Given the description of an element on the screen output the (x, y) to click on. 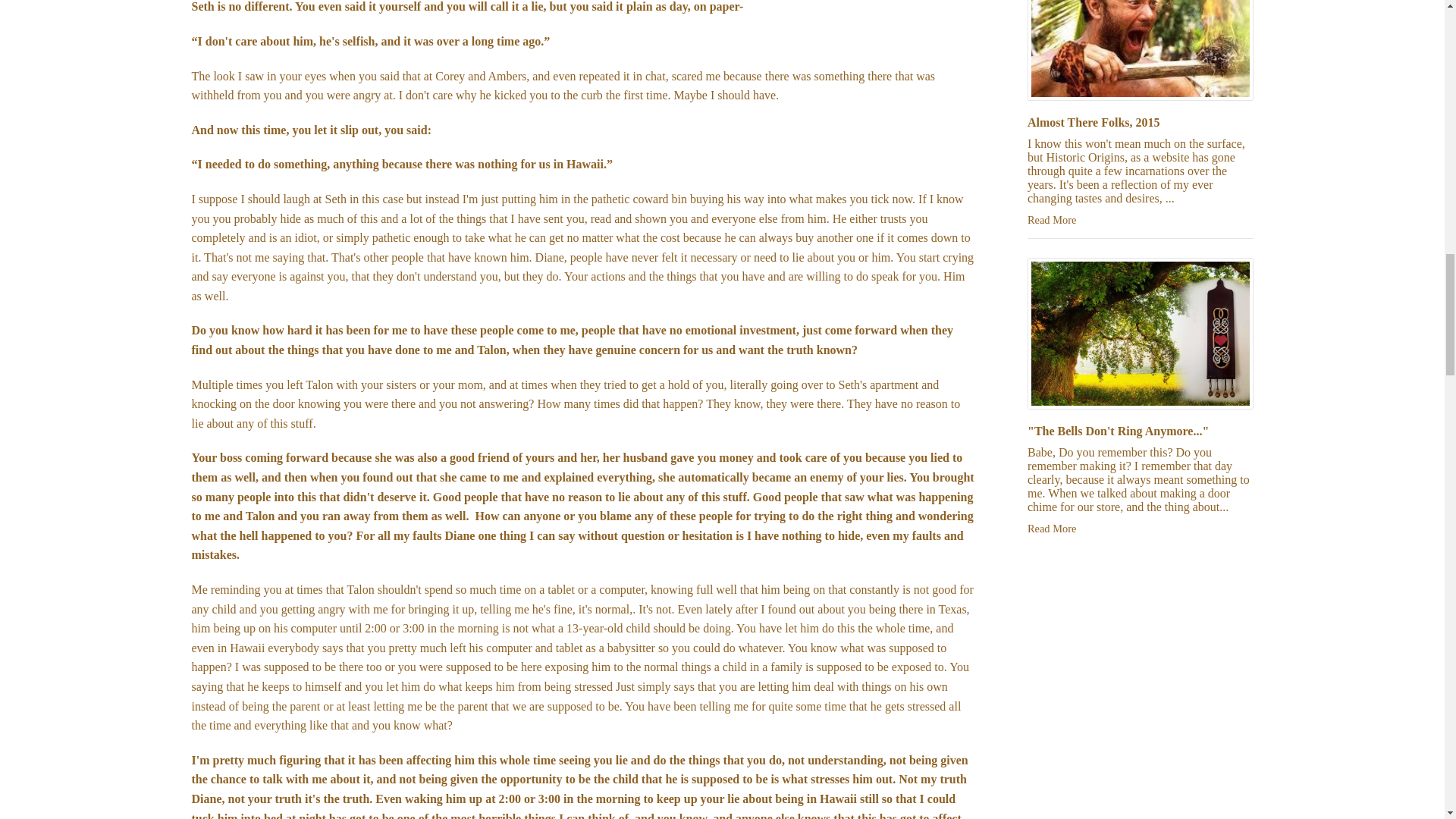
"The Bells Don't Ring Anymore..." (1117, 431)
Almost There Folks, 2015 (1093, 122)
wehavefire (1140, 50)
oalinthemeadowsm (1140, 333)
